Given the description of an element on the screen output the (x, y) to click on. 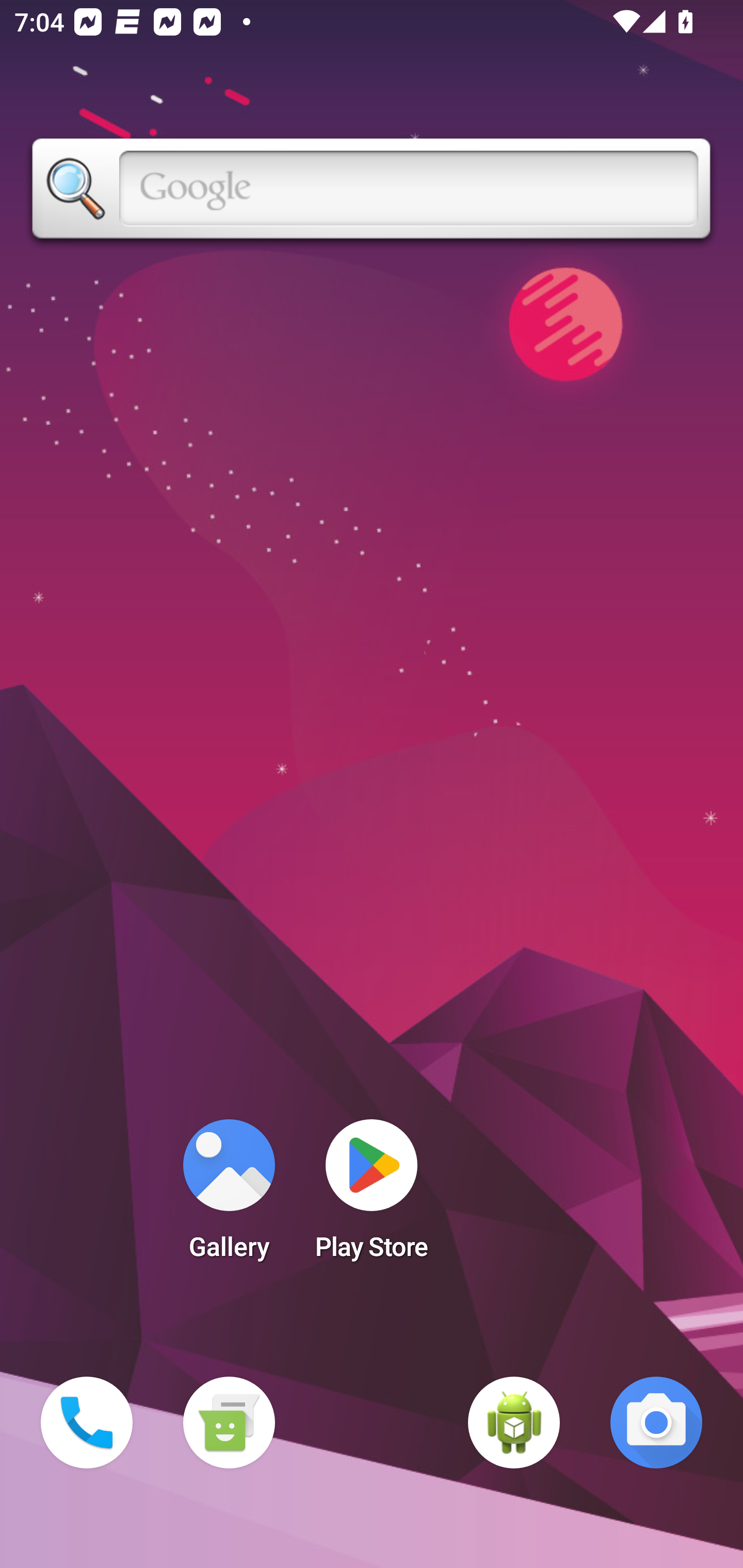
Gallery (228, 1195)
Play Store (371, 1195)
Phone (86, 1422)
Messaging (228, 1422)
WebView Browser Tester (513, 1422)
Camera (656, 1422)
